Given the description of an element on the screen output the (x, y) to click on. 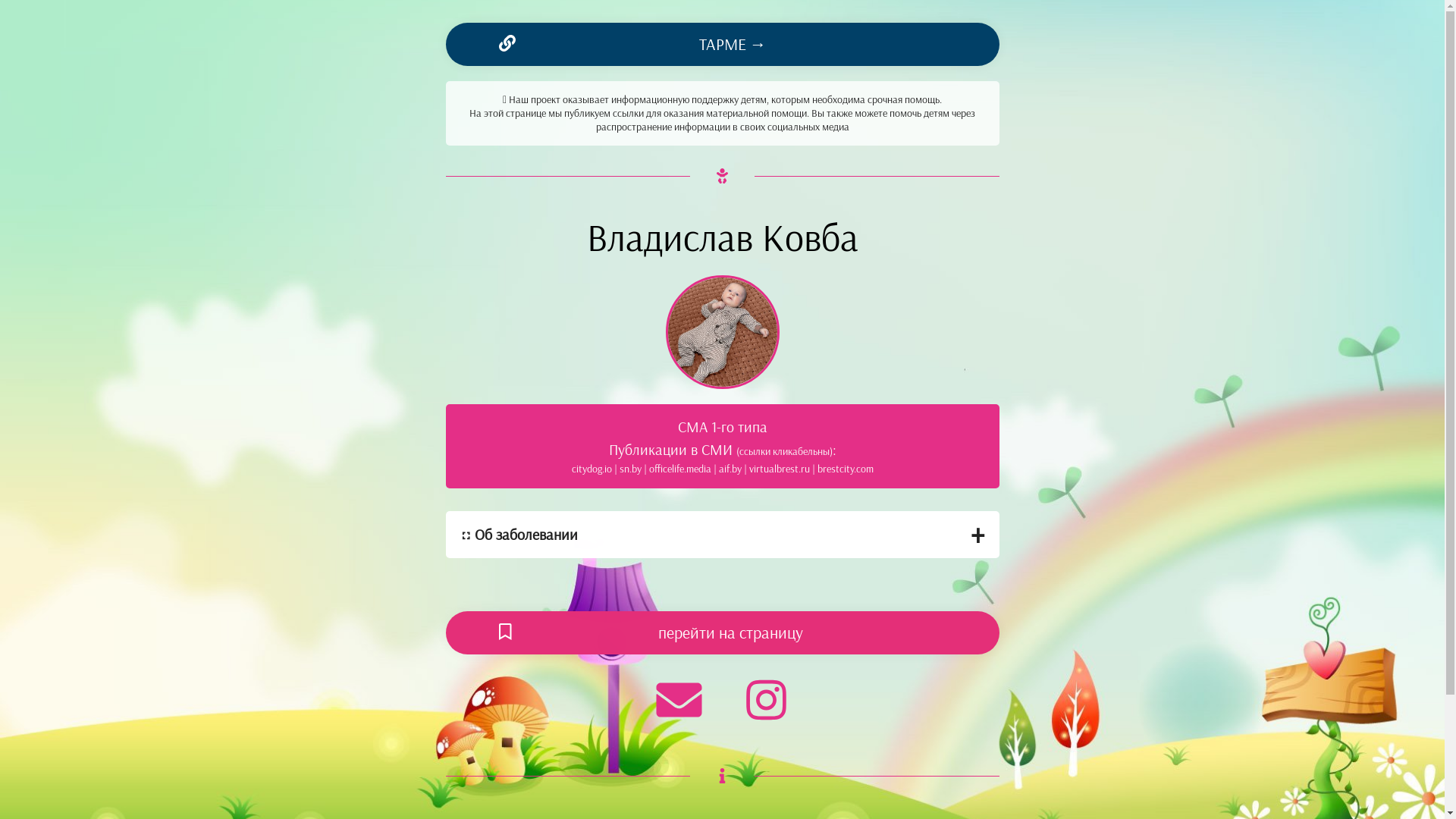
sn.by Element type: text (629, 468)
citydog.io Element type: text (591, 468)
brestcity.com Element type: text (845, 468)
officelife.media Element type: text (680, 468)
aif.by Element type: text (729, 468)
virtualbrest.ru Element type: text (779, 468)
